Given the description of an element on the screen output the (x, y) to click on. 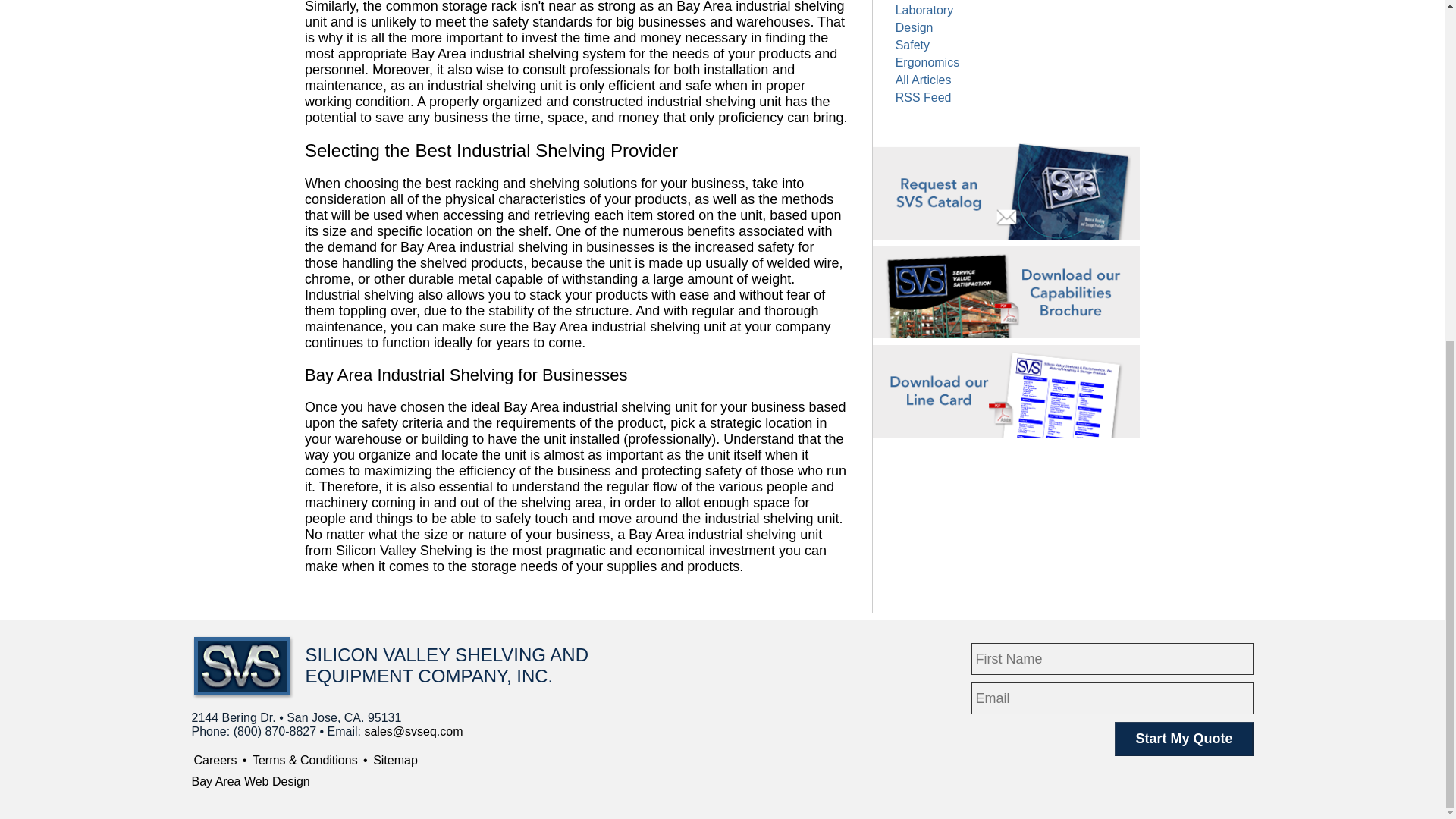
Start My Quote (1183, 738)
Design (914, 27)
Start My Quote (1183, 738)
Laboratory (924, 10)
Careers (215, 759)
Safety (912, 44)
Ergonomics (927, 62)
All Articles (923, 79)
RSS Feed (923, 97)
